Given the description of an element on the screen output the (x, y) to click on. 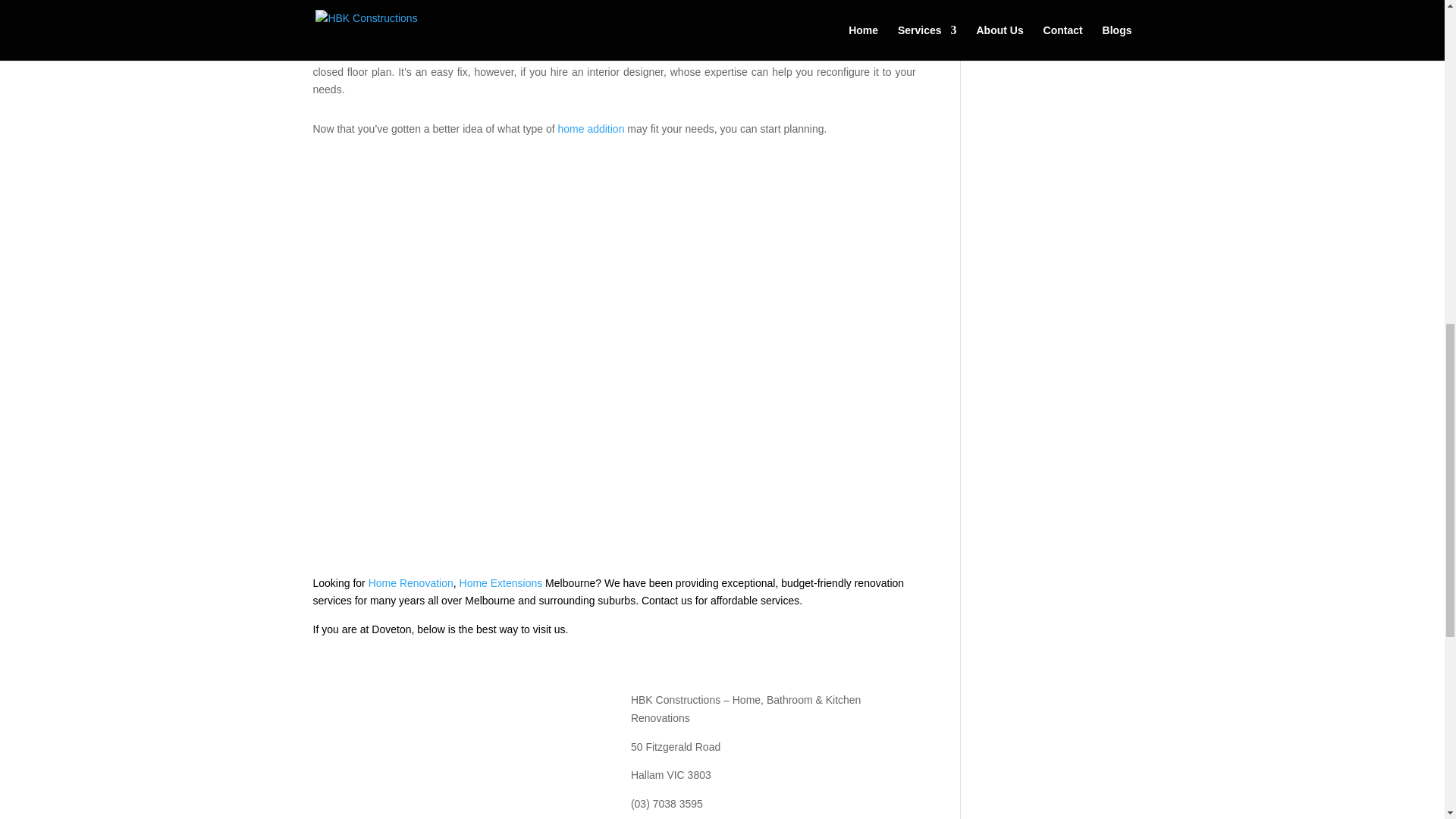
Home Extensions (501, 582)
Home Renovation (410, 582)
home addition (590, 128)
